Given the description of an element on the screen output the (x, y) to click on. 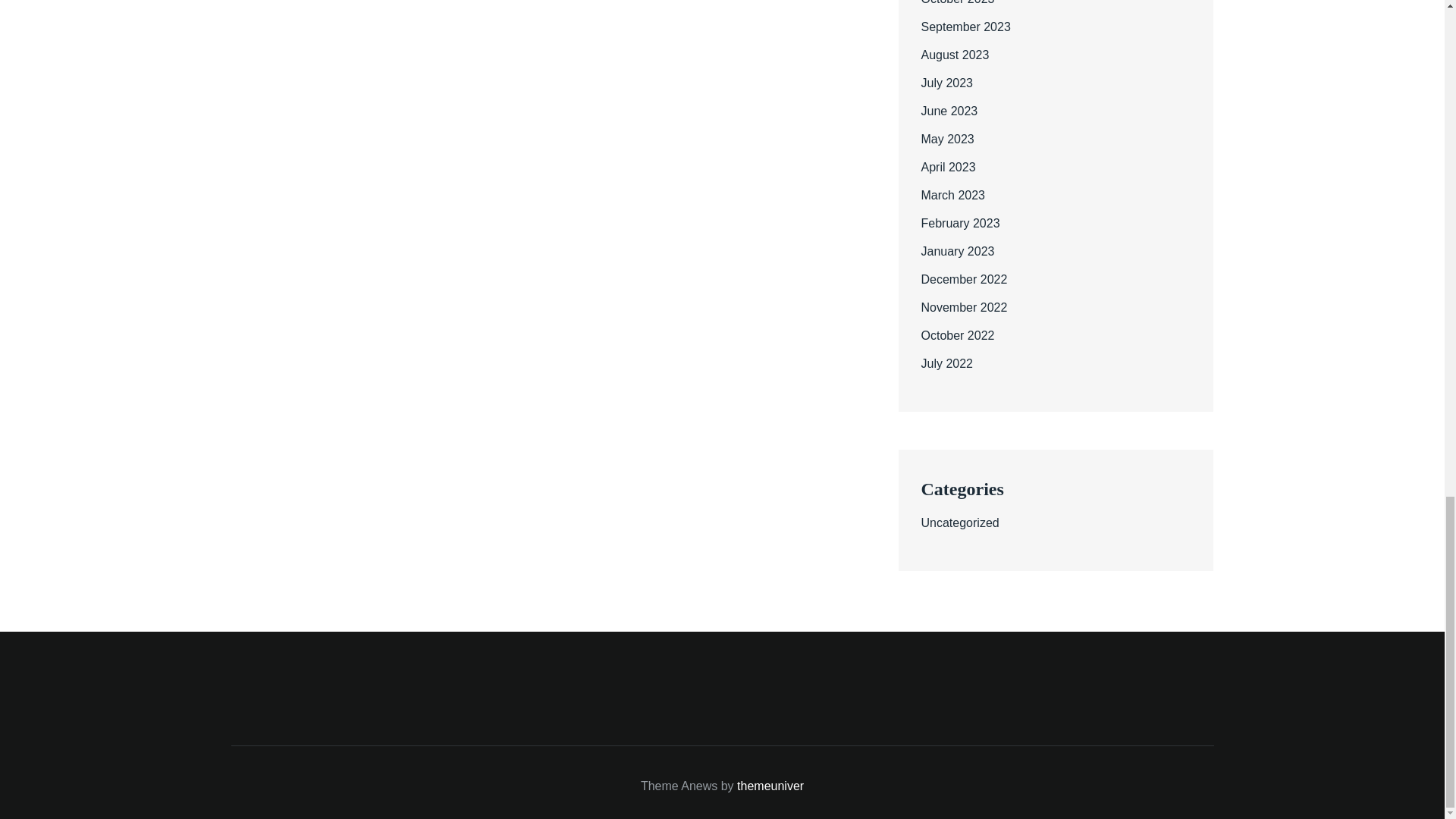
February 2023 (959, 223)
May 2023 (947, 138)
January 2023 (957, 250)
August 2023 (954, 54)
October 2023 (957, 2)
July 2023 (946, 82)
June 2023 (948, 110)
September 2023 (965, 26)
April 2023 (947, 166)
March 2023 (952, 195)
